Given the description of an element on the screen output the (x, y) to click on. 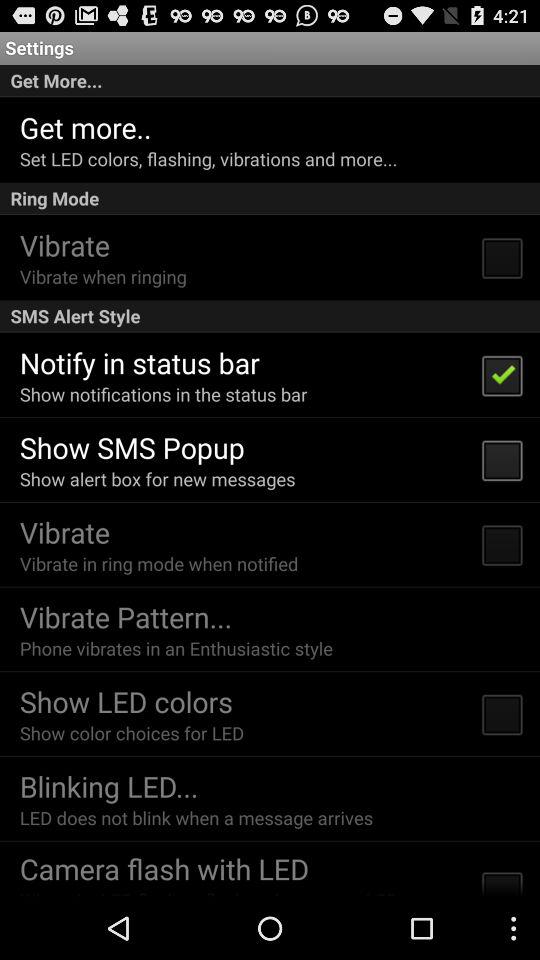
select vibrate in ring (158, 563)
